Given the description of an element on the screen output the (x, y) to click on. 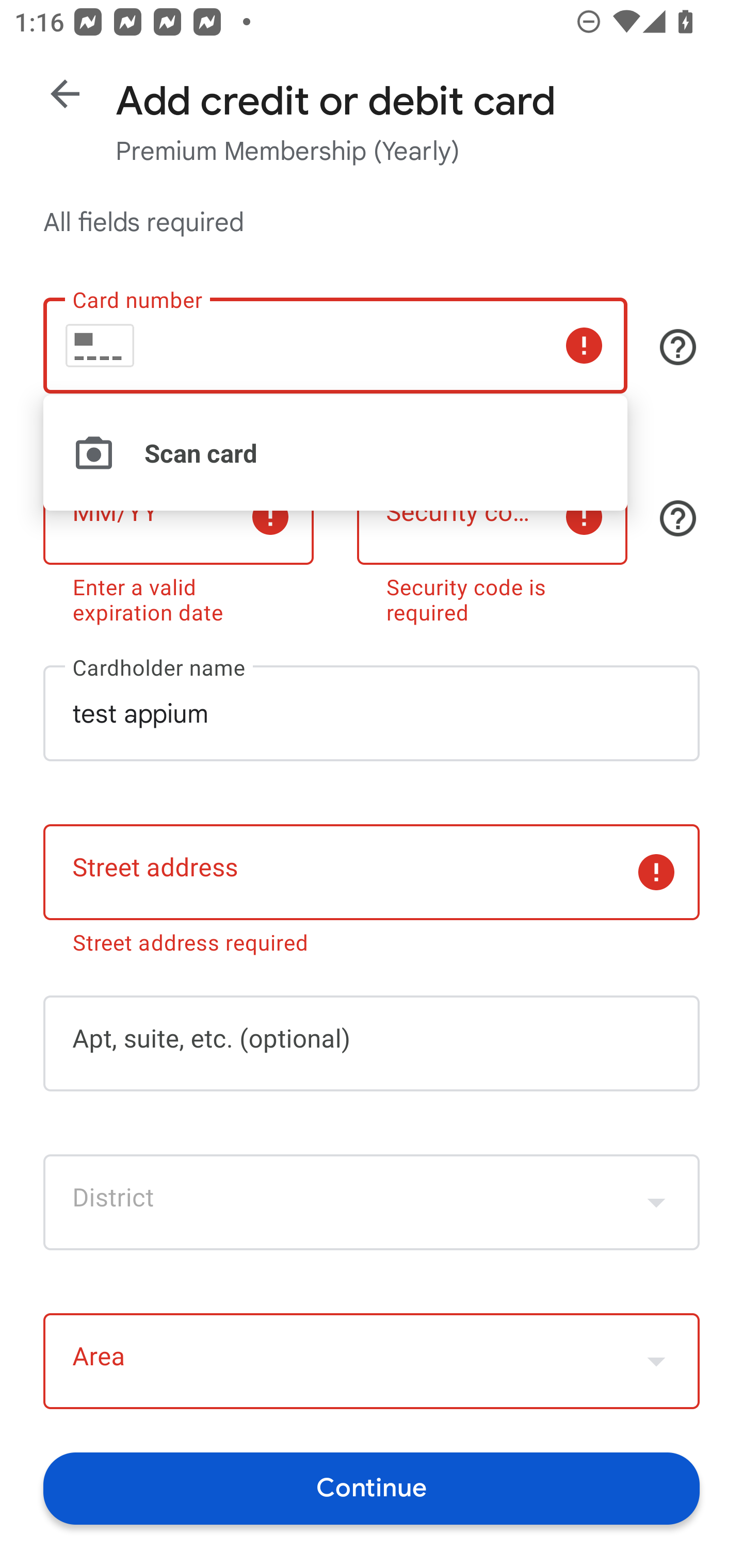
Back (64, 93)
Card number (335, 345)
Button, shows cards that are accepted for payment (677, 347)
Security code Error Security code is required (492, 543)
Expiration date, 2 digit month, 2 digit year (178, 516)
Security code (492, 516)
Security code help (677, 518)
test appium (371, 713)
Street address (371, 872)
Apt, suite, etc. (optional) (371, 1043)
District (371, 1201)
Show dropdown menu (655, 1201)
Area (371, 1361)
Show dropdown menu (655, 1360)
Continue (371, 1487)
